Given the description of an element on the screen output the (x, y) to click on. 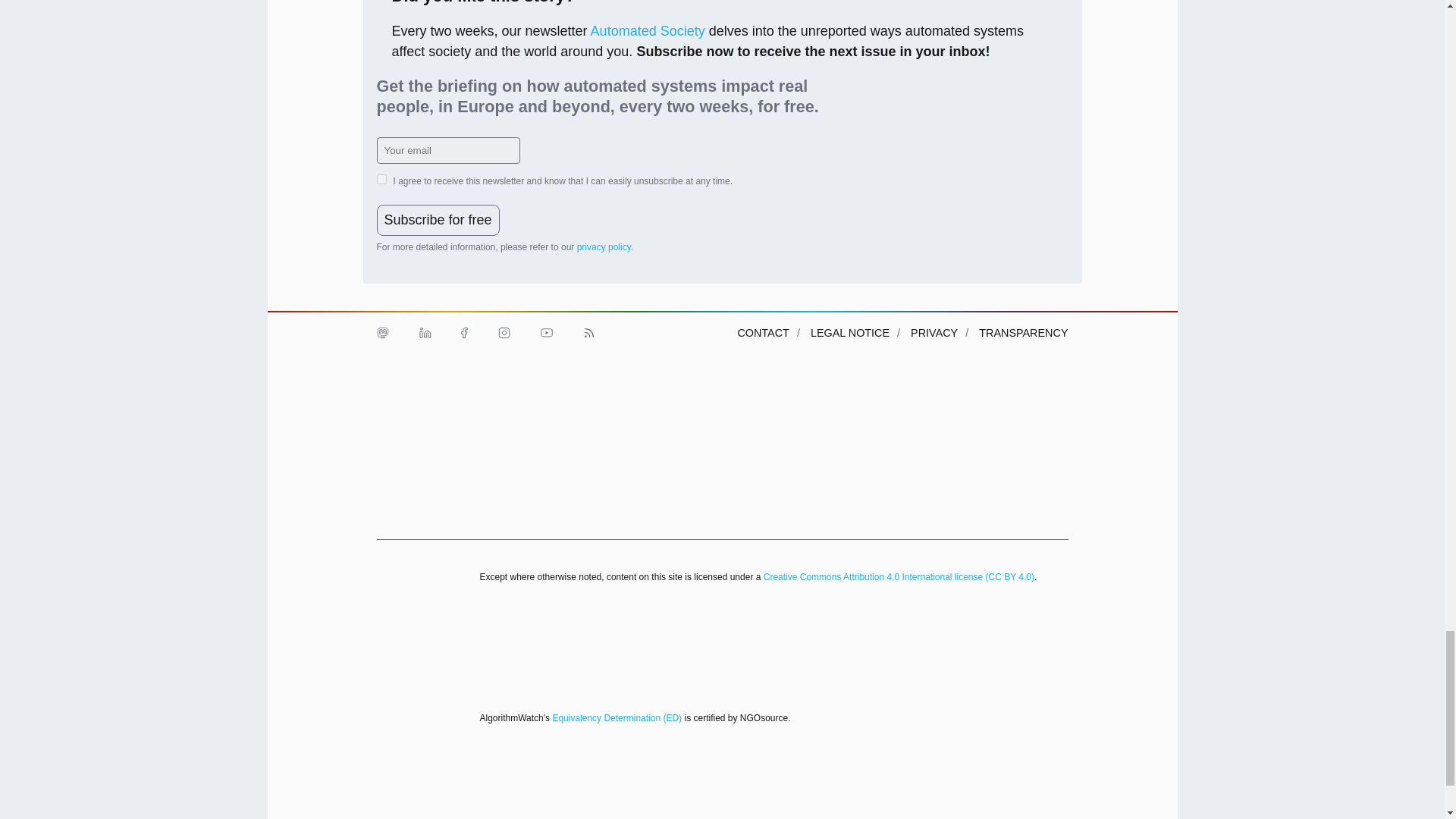
Alfred Landecker Foundation (410, 400)
Instagram (502, 332)
Youtube (545, 332)
RSS Feed (588, 332)
on (380, 179)
LinkedIn (424, 332)
